Given the description of an element on the screen output the (x, y) to click on. 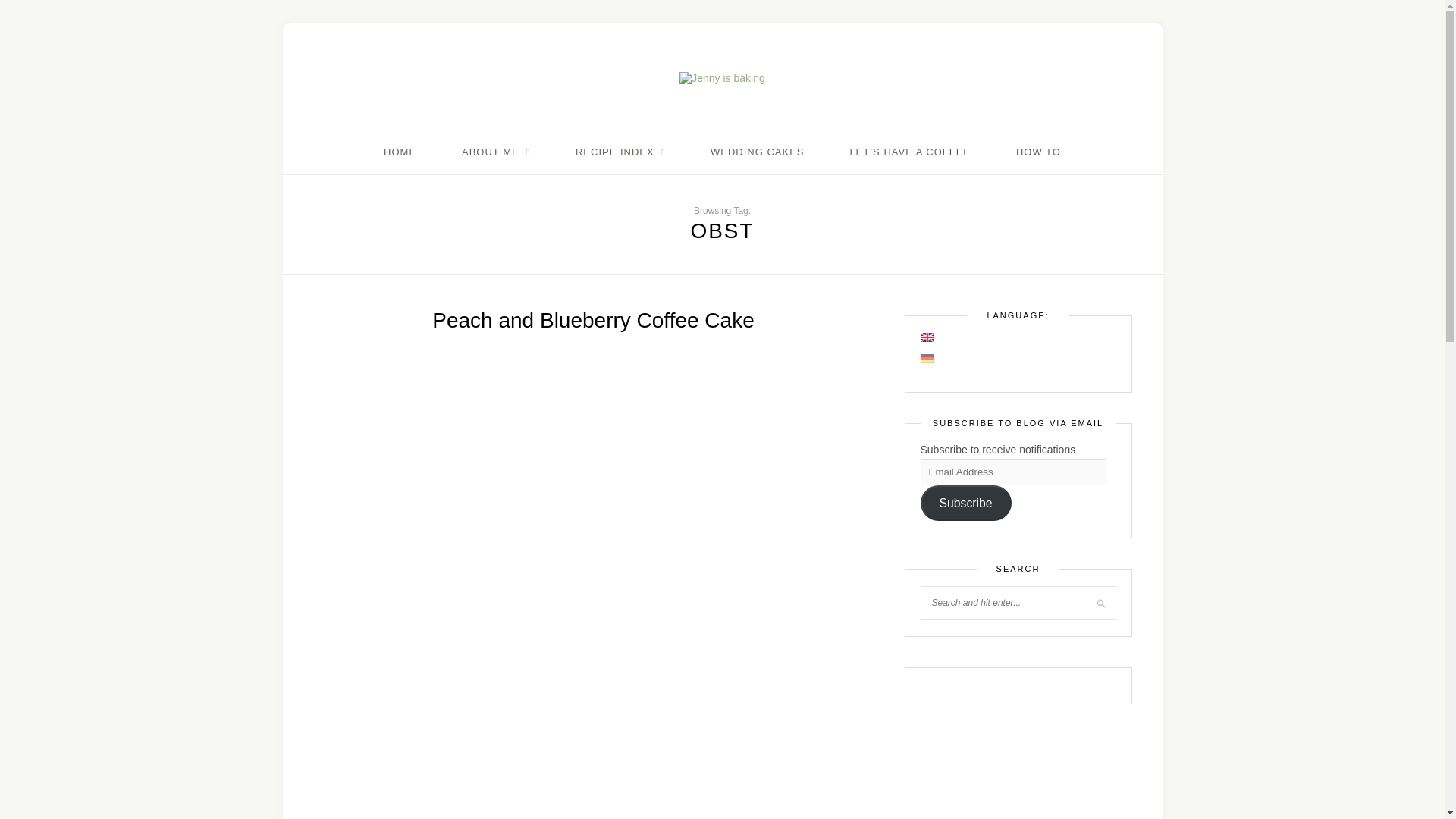
HOW TO (1038, 152)
ABOUT ME (495, 152)
Peach and Blueberry Coffee Cake (593, 320)
WEDDING CAKES (757, 152)
RECIPE INDEX (620, 152)
